Given the description of an element on the screen output the (x, y) to click on. 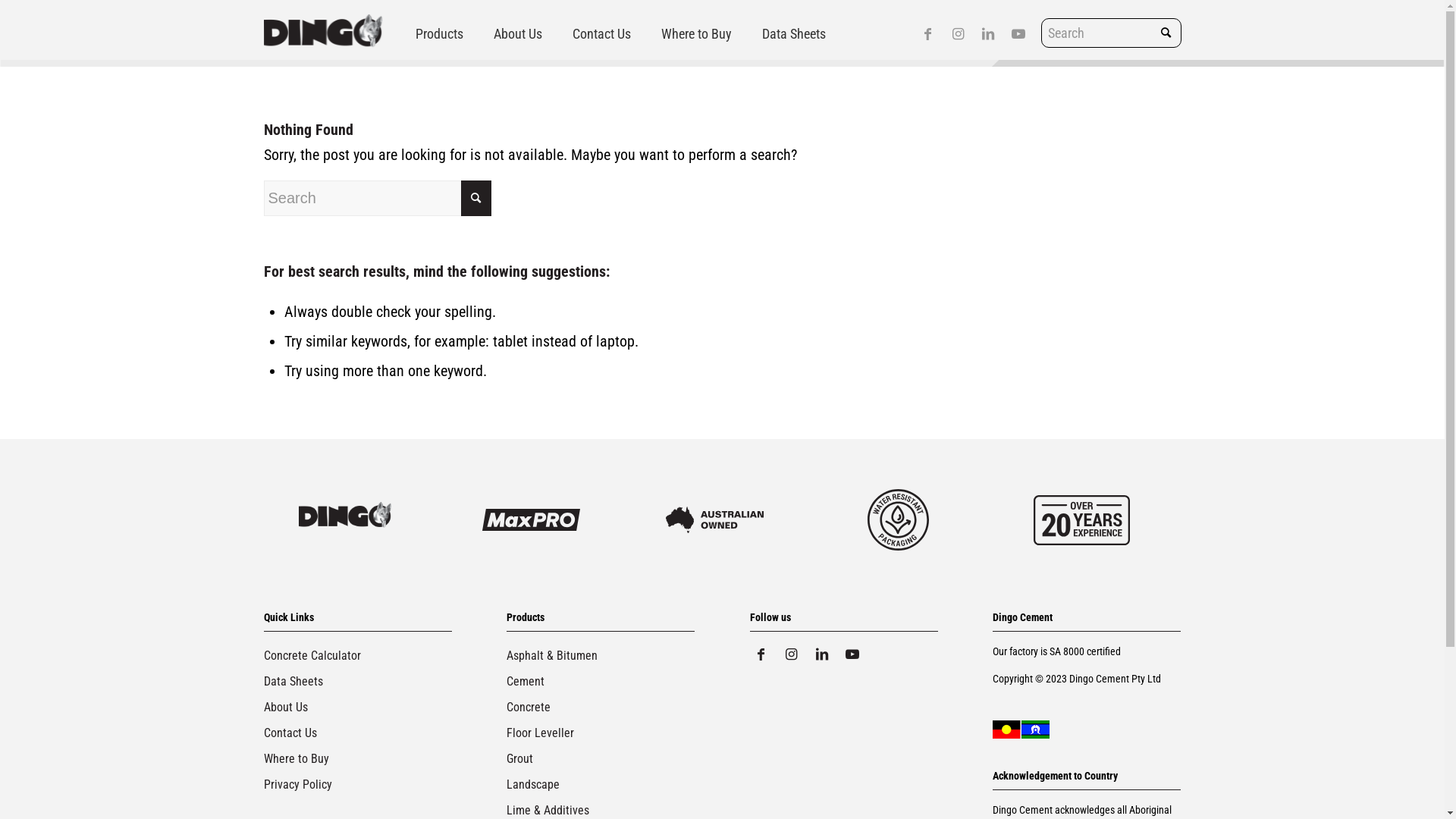
LinkedIn Element type: hover (987, 33)
Facebook Element type: hover (927, 33)
Where to Buy Element type: text (357, 758)
Data Sheets Element type: text (357, 681)
Instagram Element type: hover (791, 654)
Where to Buy Element type: text (696, 33)
Contact Us Element type: text (600, 33)
Contact Us Element type: text (357, 733)
Landscape Element type: text (600, 784)
Asphalt & Bitumen Element type: text (600, 655)
Cement Element type: text (600, 681)
Floor Leveller Element type: text (600, 733)
Concrete Element type: text (600, 707)
About Us Element type: text (517, 33)
LinkedIn Element type: hover (821, 654)
Products Element type: text (438, 33)
Data Sheets Element type: text (792, 33)
Grout Element type: text (600, 758)
Instagram Element type: hover (957, 33)
Facebook Element type: hover (760, 654)
About Us Element type: text (357, 707)
Concrete Calculator Element type: text (357, 655)
Youtube Element type: hover (1018, 33)
Privacy Policy Element type: text (357, 784)
Youtube Element type: hover (851, 654)
